Given the description of an element on the screen output the (x, y) to click on. 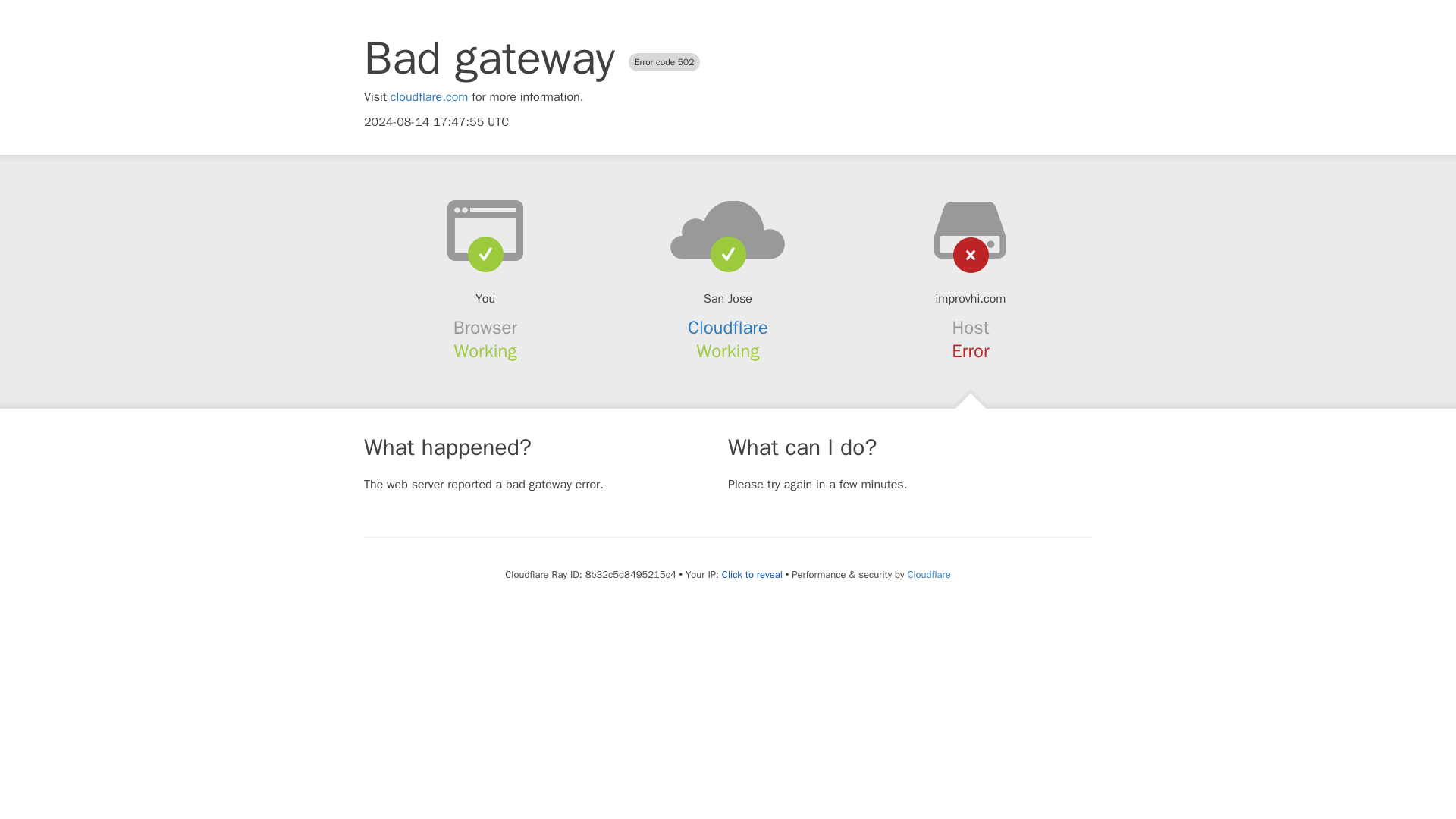
cloudflare.com (429, 96)
Cloudflare (928, 574)
Click to reveal (752, 574)
Cloudflare (727, 327)
